Given the description of an element on the screen output the (x, y) to click on. 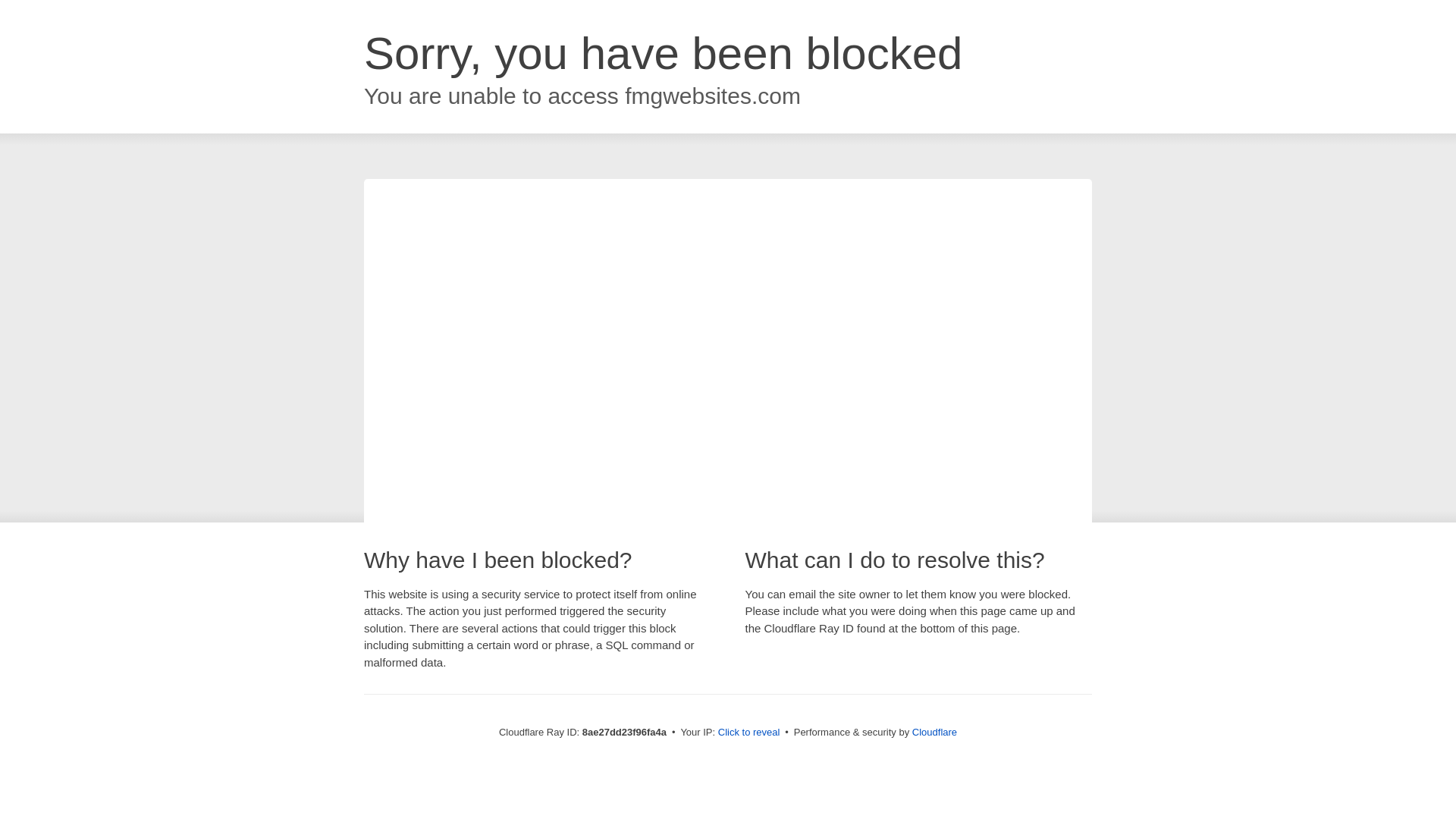
Cloudflare (934, 731)
Click to reveal (748, 732)
